Given the description of an element on the screen output the (x, y) to click on. 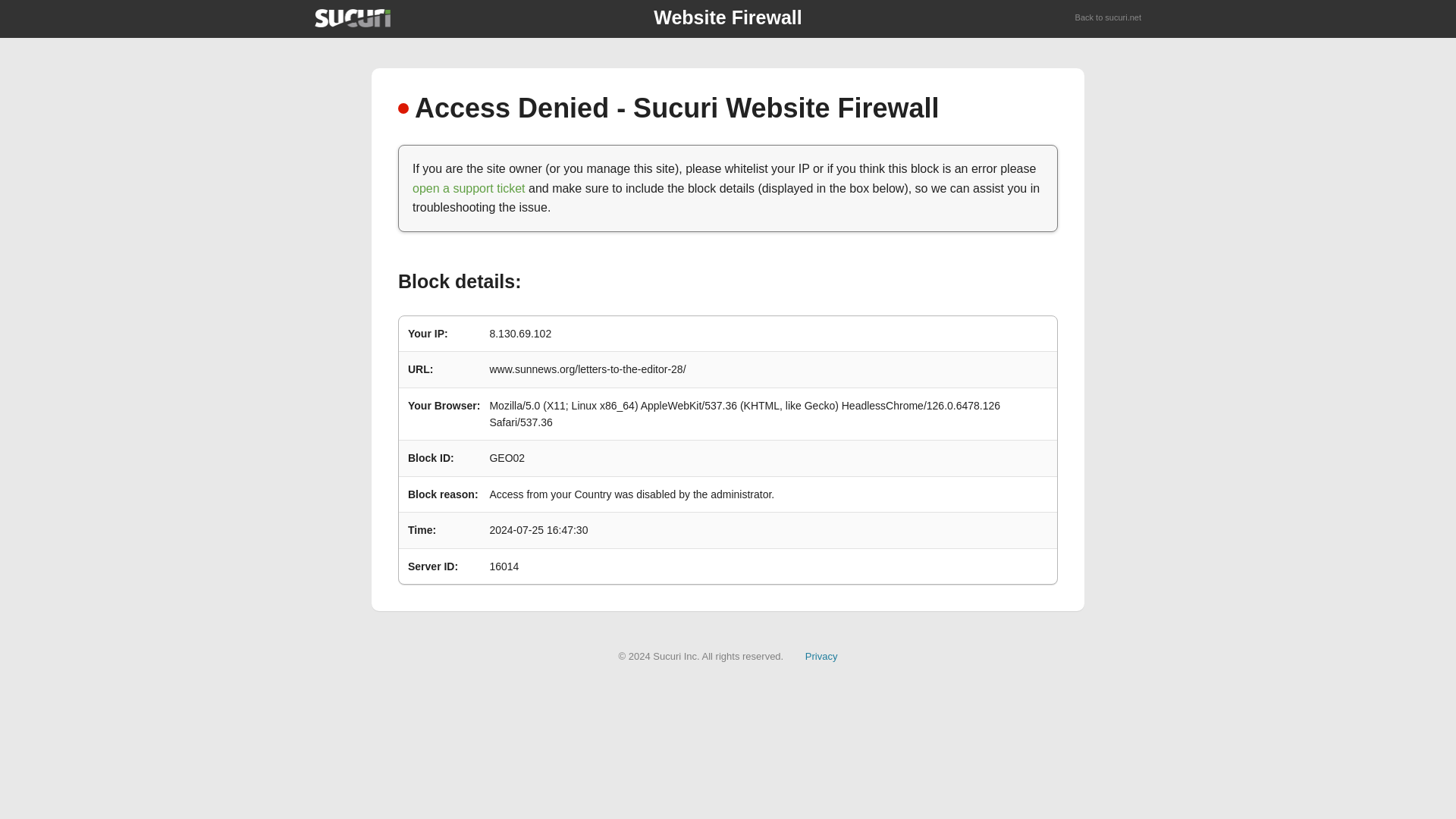
Back to sucuri.net (1108, 18)
Privacy (821, 655)
open a support ticket (468, 187)
